Given the description of an element on the screen output the (x, y) to click on. 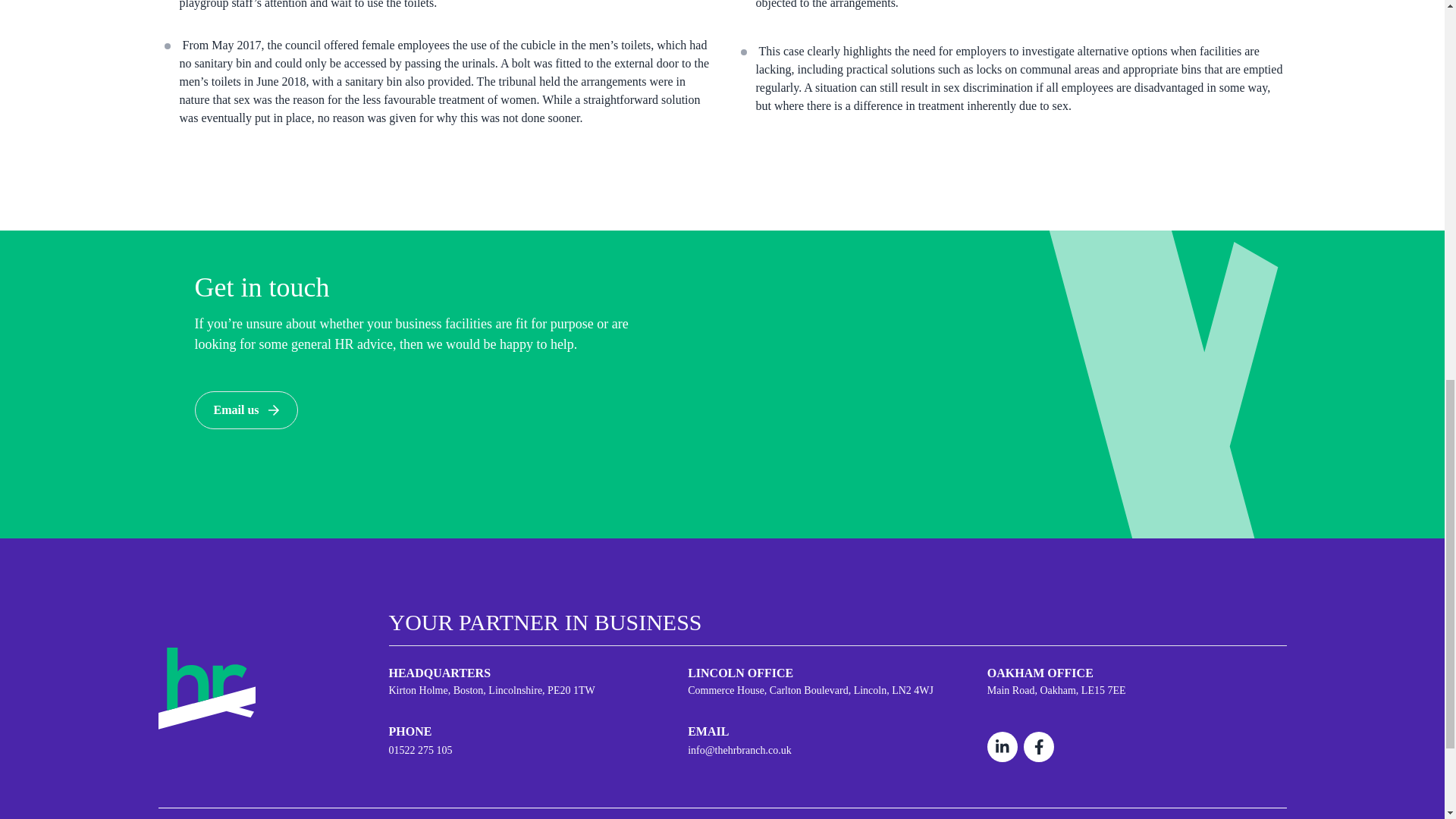
01522 275 105 (537, 750)
HR Branch (205, 686)
Email us (245, 410)
